Given the description of an element on the screen output the (x, y) to click on. 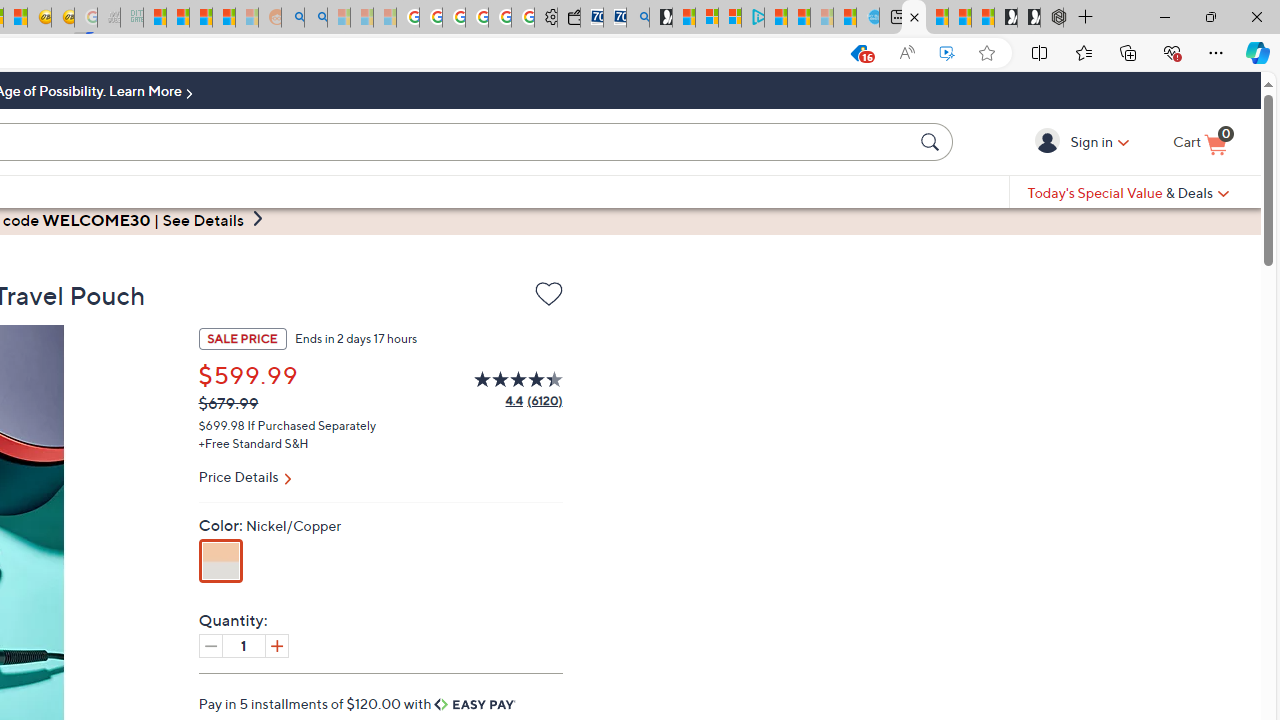
Search Submit (932, 141)
MSNBC - MSN (154, 17)
Pay in 5 installments of $120.00 with Easy Pay (357, 703)
Today's Special Value & Deals (1128, 192)
Wallet (568, 17)
SALE PRICE (242, 337)
